Given the description of an element on the screen output the (x, y) to click on. 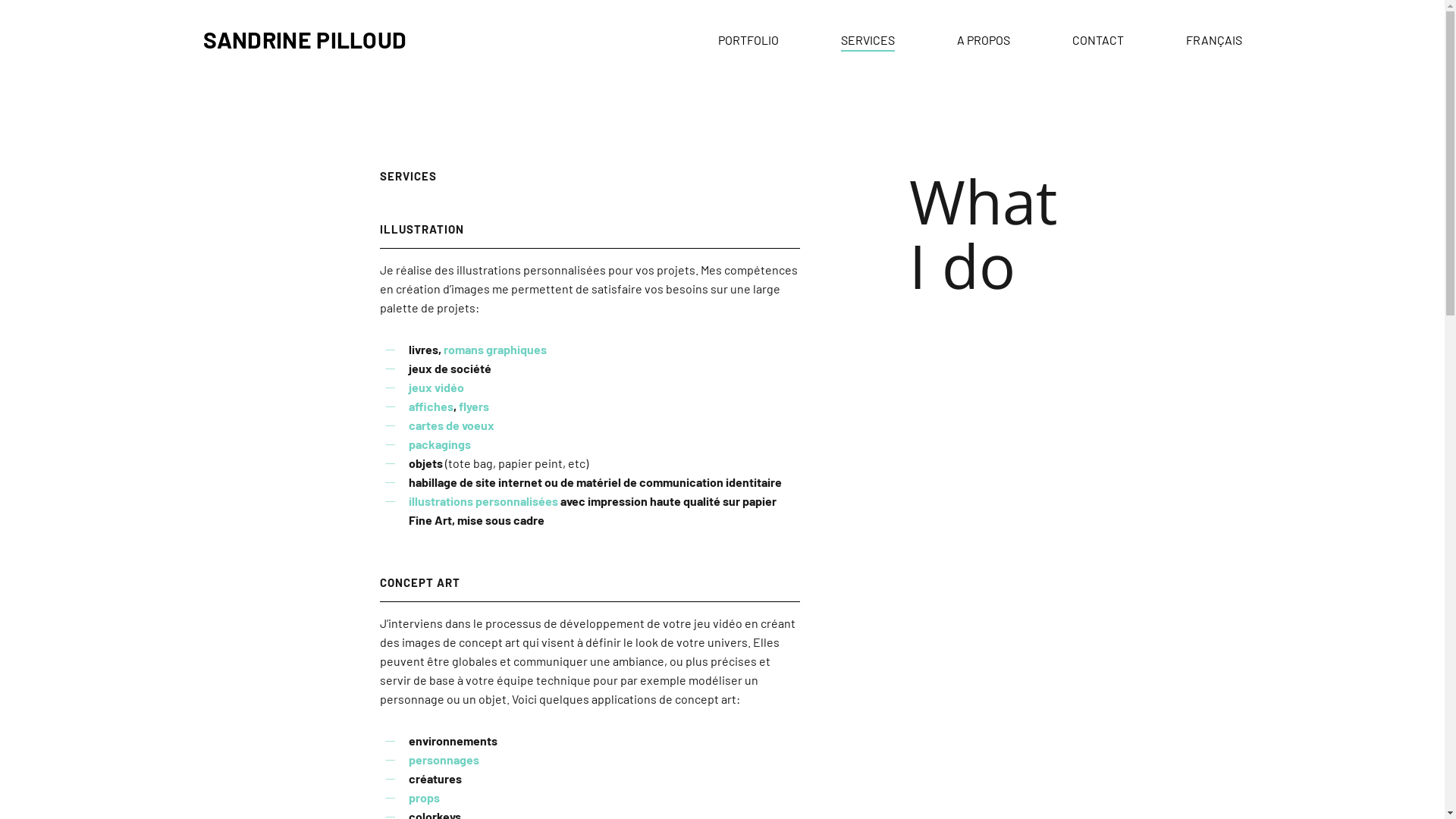
packagings Element type: text (439, 443)
SERVICES Element type: text (867, 39)
romans graphiques Element type: text (494, 349)
cartes de voeux Element type: text (451, 424)
PORTFOLIO Element type: text (747, 39)
personnages Element type: text (443, 759)
CONTACT Element type: text (1097, 39)
SANDRINE PILLOUD Element type: text (305, 39)
props Element type: text (423, 797)
flyers Element type: text (473, 405)
A PROPOS Element type: text (983, 39)
affiches Element type: text (430, 405)
